Given the description of an element on the screen output the (x, y) to click on. 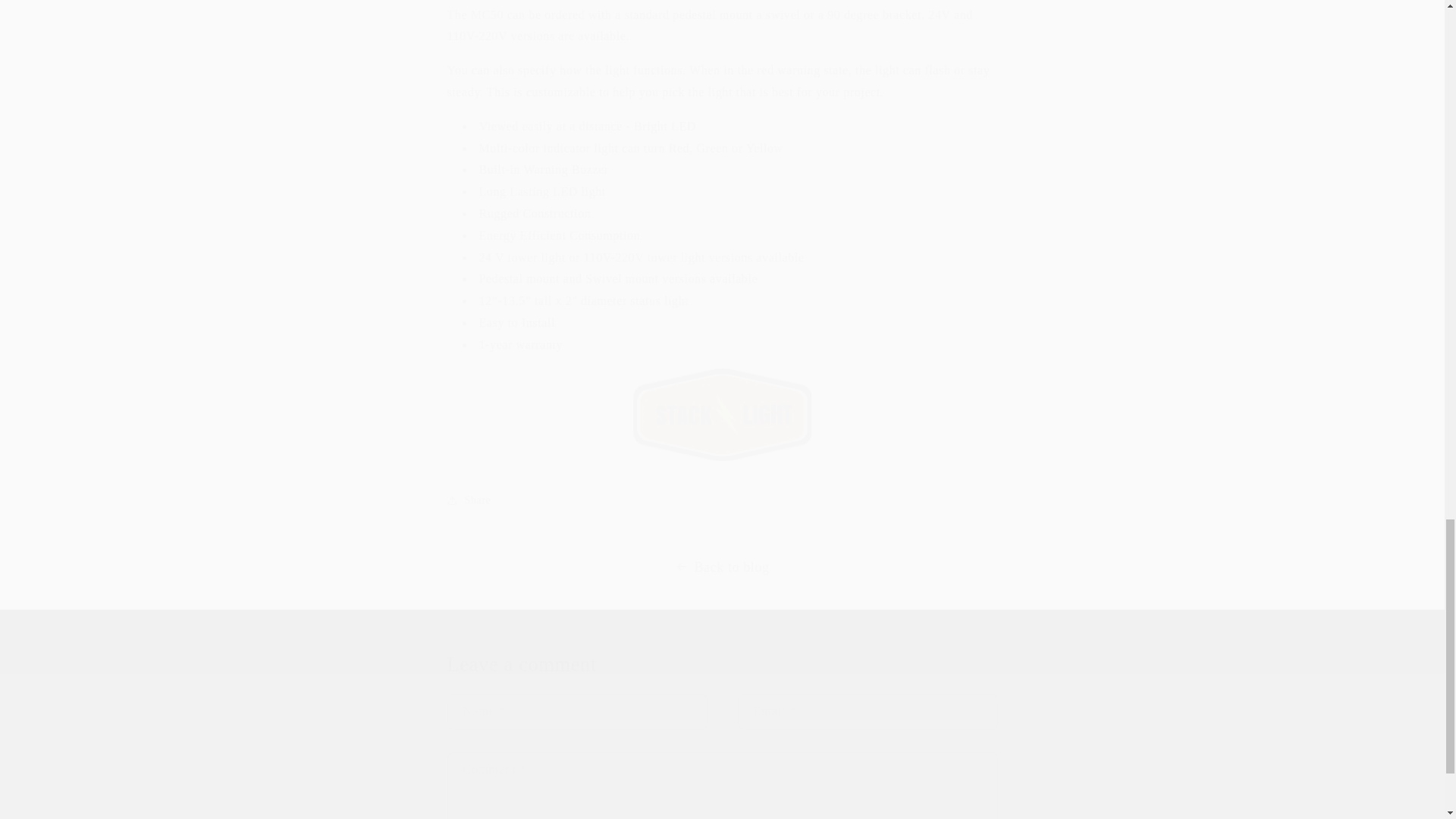
Share (721, 500)
